Given the description of an element on the screen output the (x, y) to click on. 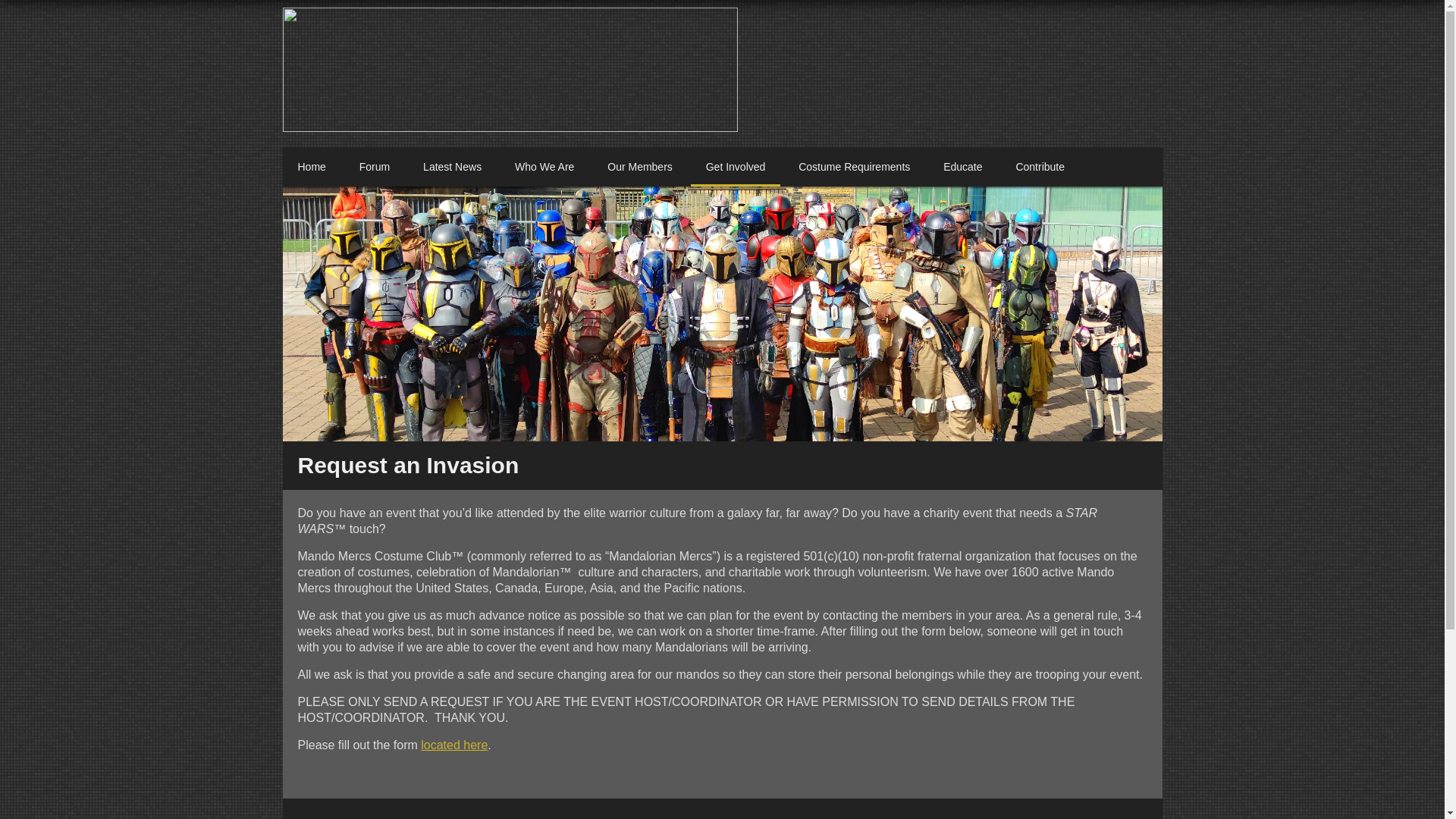
Forum (373, 166)
Forum (373, 166)
Get Involved (735, 166)
Contribute (1040, 166)
located here (453, 744)
Latest News (451, 166)
Educate (962, 166)
Who We Are (544, 166)
Home (311, 166)
Our Members (639, 166)
Costume Requirements (853, 166)
